Given the description of an element on the screen output the (x, y) to click on. 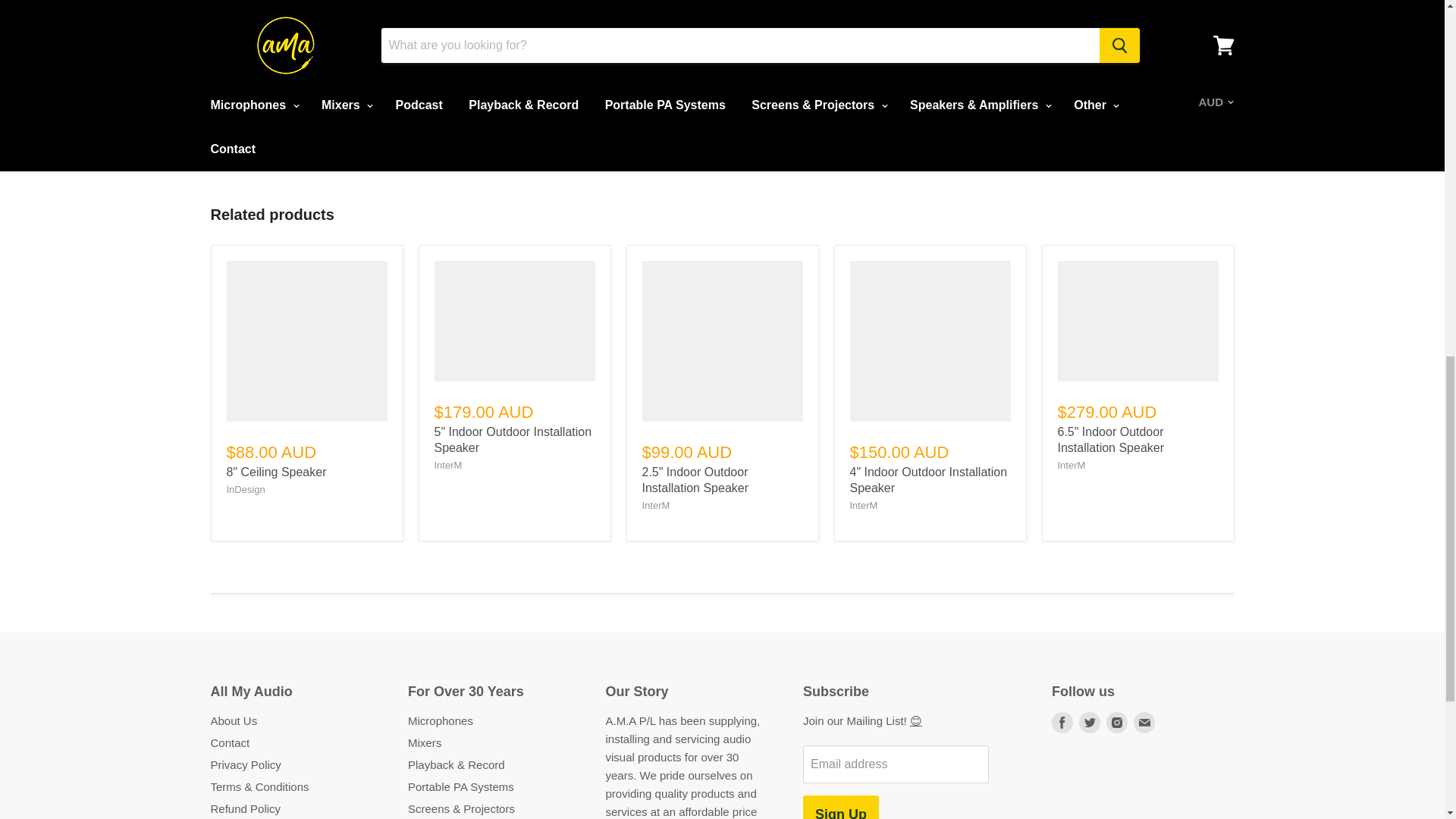
Facebook (1061, 722)
E-mail (1144, 722)
Twitter (1089, 722)
Instagram (1117, 722)
